Given the description of an element on the screen output the (x, y) to click on. 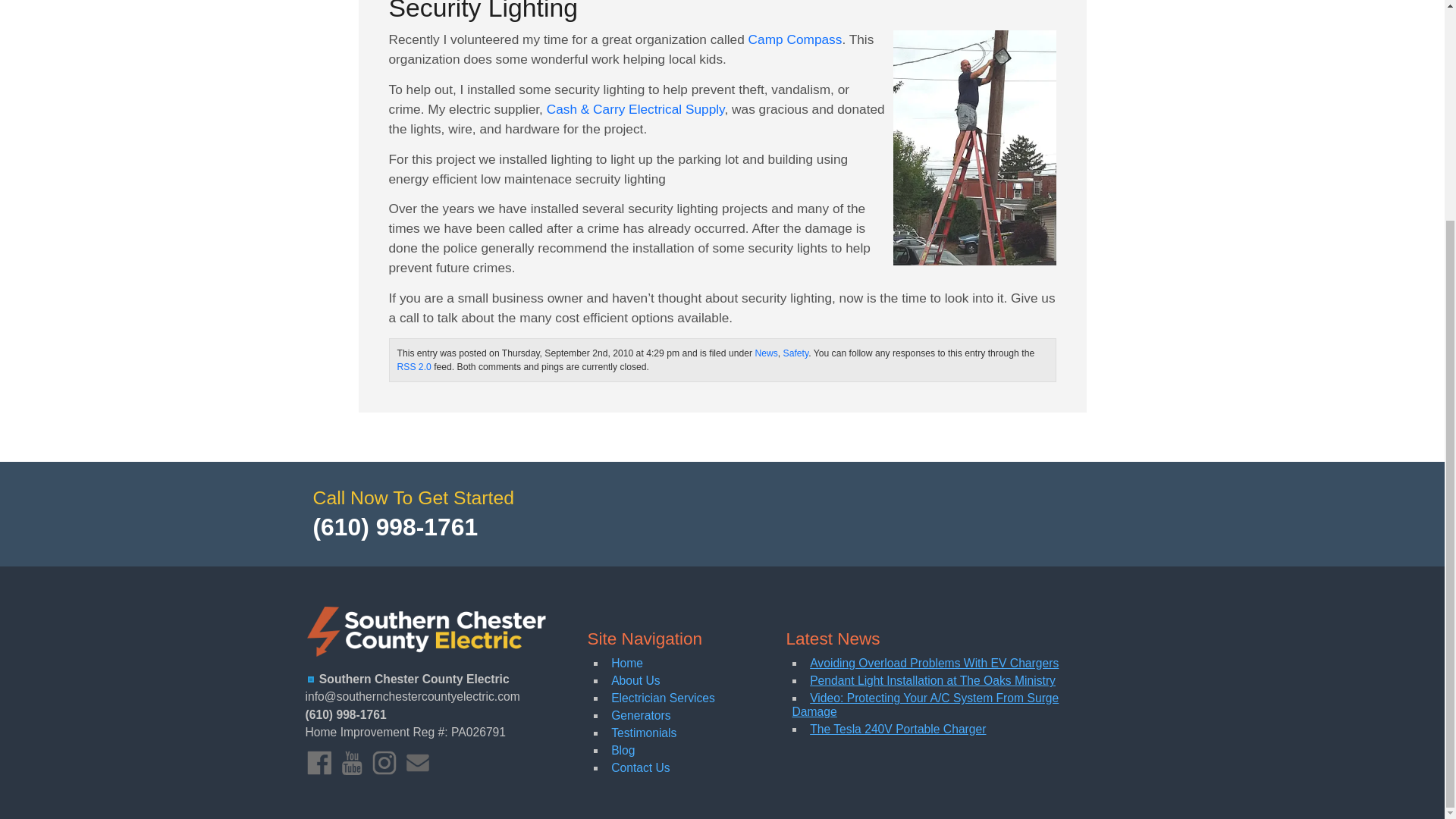
Generators (640, 715)
Avoiding Overload Problems With EV Chargers (933, 662)
About Us (635, 680)
Home (627, 662)
RSS 2.0 (413, 366)
Electrician Services (662, 697)
The Tesla 240V Portable Charger (897, 728)
News (765, 353)
Pendant Light Installation at The Oaks Ministry (932, 680)
Blog (622, 749)
